Given the description of an element on the screen output the (x, y) to click on. 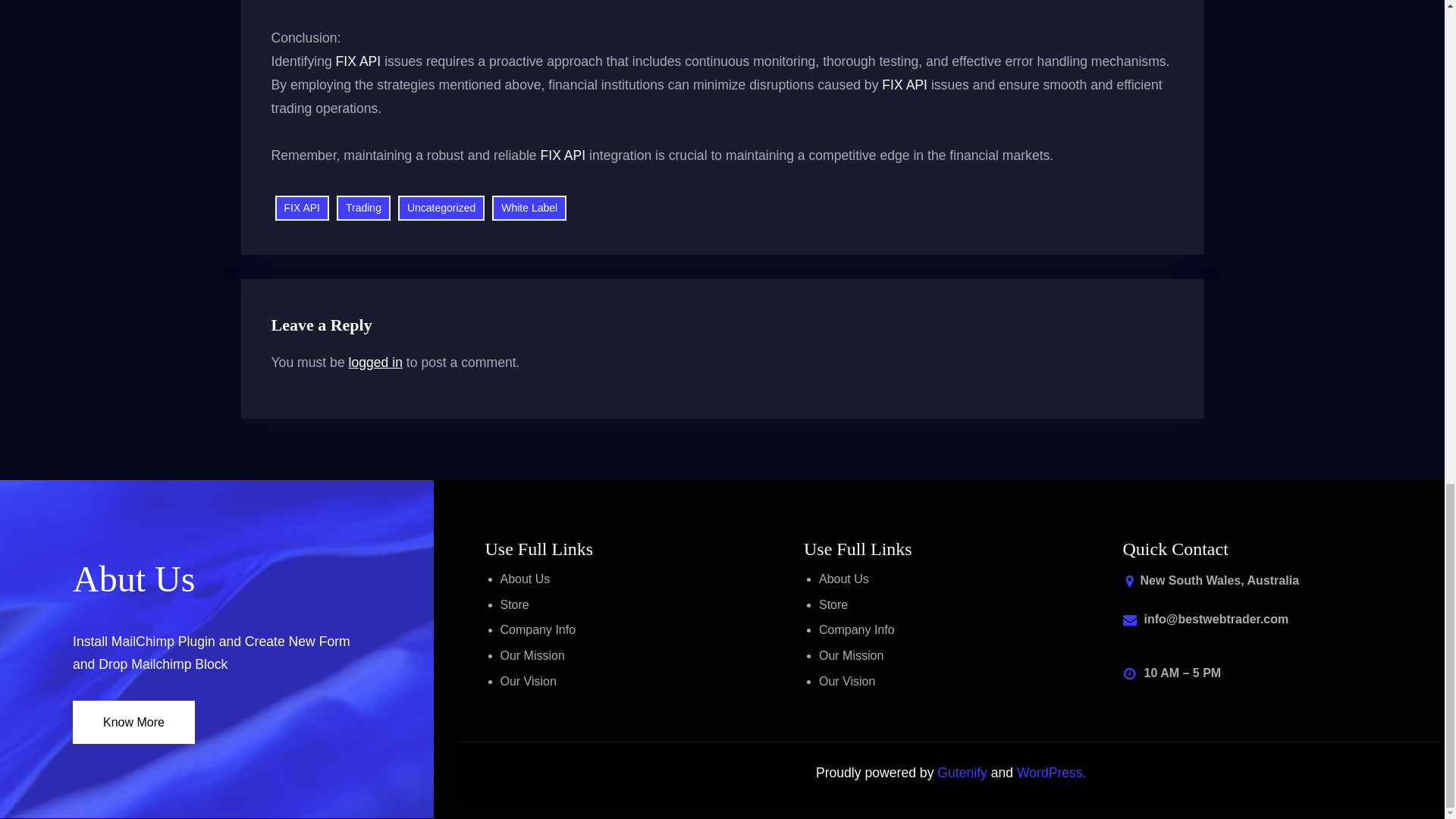
FIX API (563, 155)
FIX API (358, 61)
FIX API (904, 84)
White Label (529, 207)
Uncategorized (440, 207)
Know More (133, 722)
Trading (363, 207)
FIX API (302, 207)
logged in (376, 362)
